Given the description of an element on the screen output the (x, y) to click on. 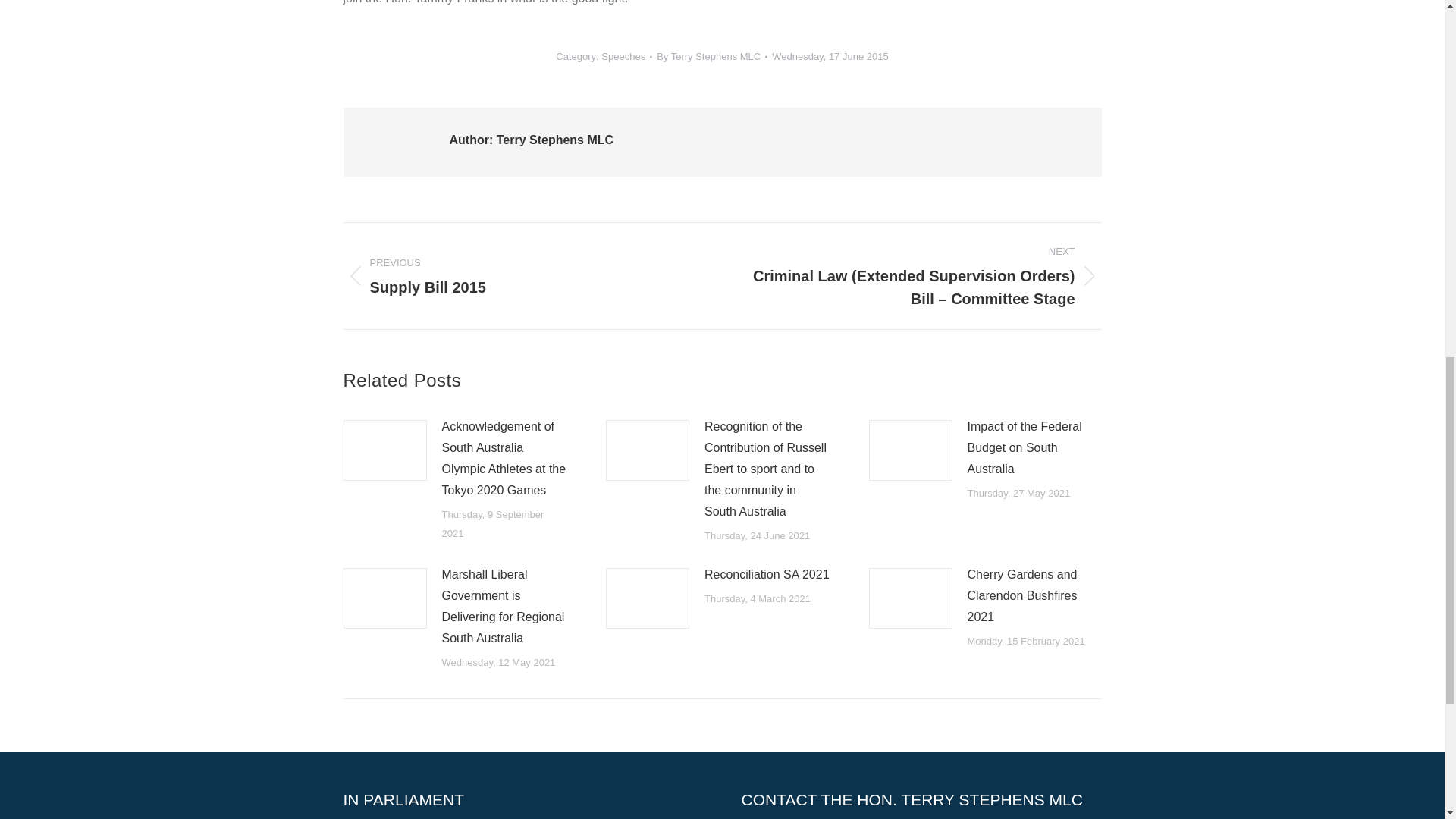
12:00 am (829, 56)
View all posts by Terry Stephens MLC (711, 56)
